Given the description of an element on the screen output the (x, y) to click on. 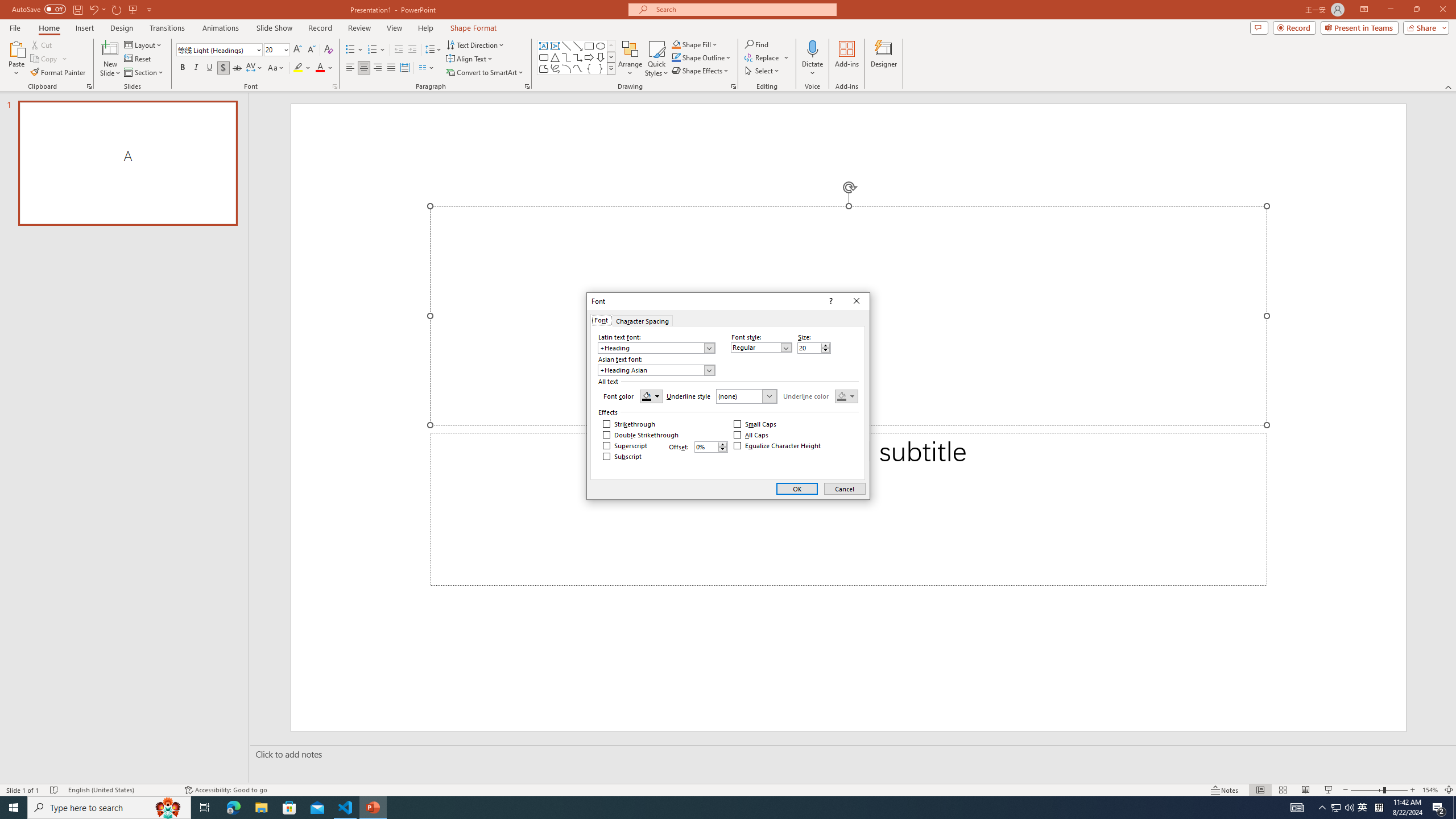
Line Spacing (433, 49)
Shape Fill Orange, Accent 2 (675, 44)
Superscript (624, 445)
Shape Fill (694, 44)
Line Arrow (577, 45)
Font Color (324, 67)
Start (13, 807)
Replace... (762, 56)
Text Highlight Color (302, 67)
Cancel (845, 488)
